Given the description of an element on the screen output the (x, y) to click on. 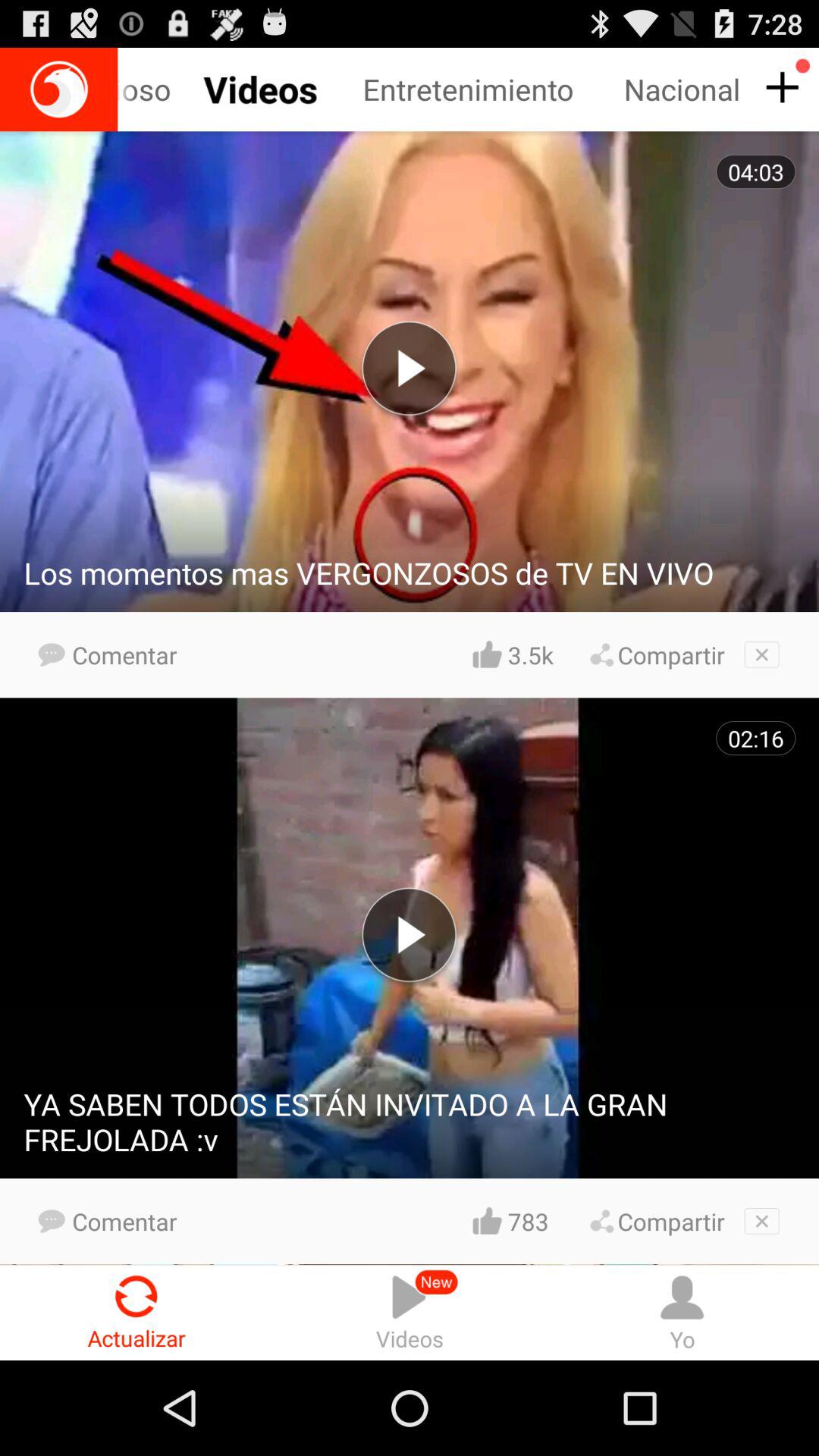
jump until the actualizar radio button (136, 1312)
